Given the description of an element on the screen output the (x, y) to click on. 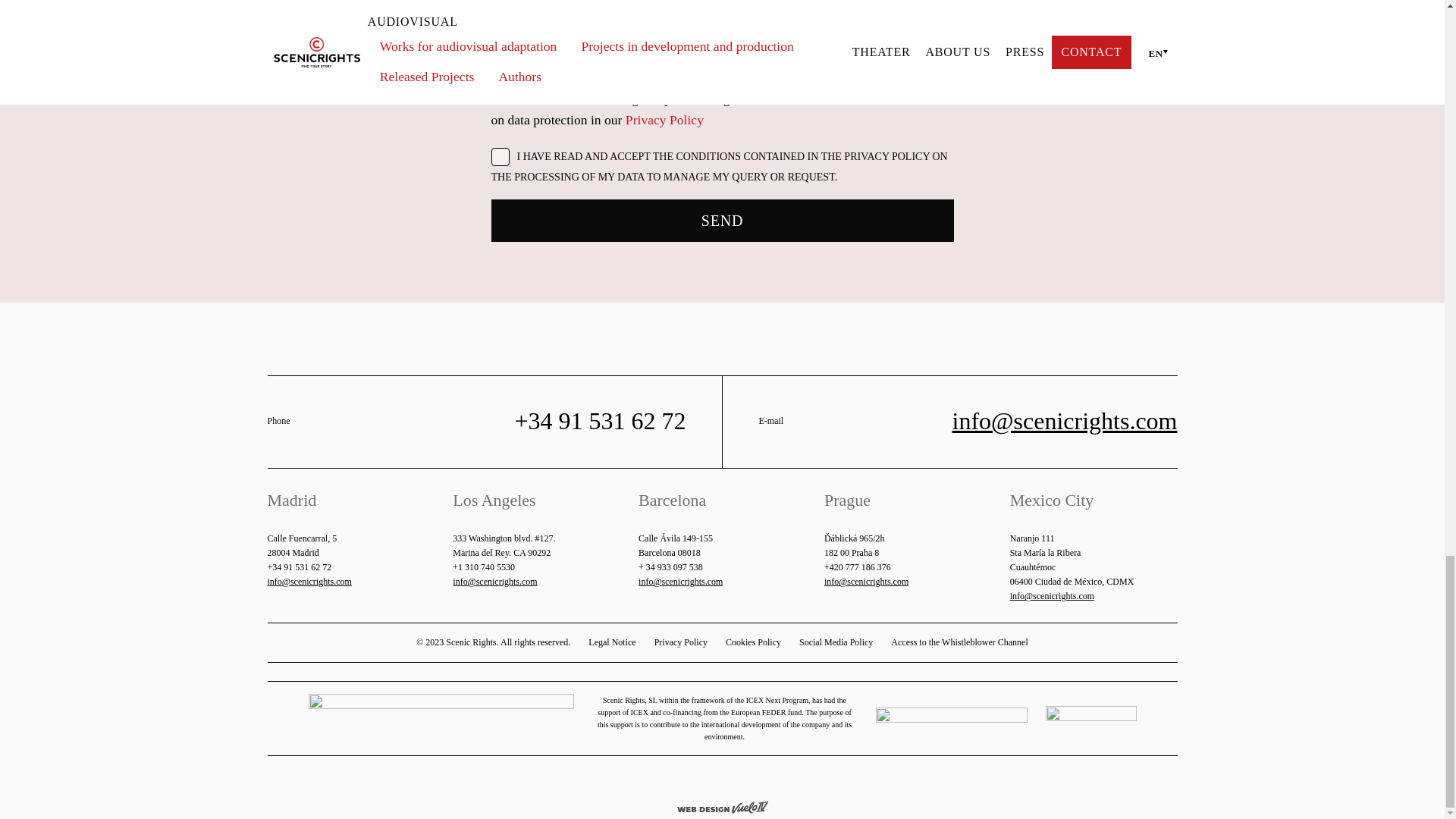
Send (722, 219)
Access to the Whistleblower Channel (959, 642)
Web Design Barcelona (722, 804)
Privacy Policy (680, 642)
Privacy Policy (664, 119)
Social Media Policy (835, 642)
Send (722, 219)
Cookies Policy (752, 642)
Legal Notice (611, 642)
